Given the description of an element on the screen output the (x, y) to click on. 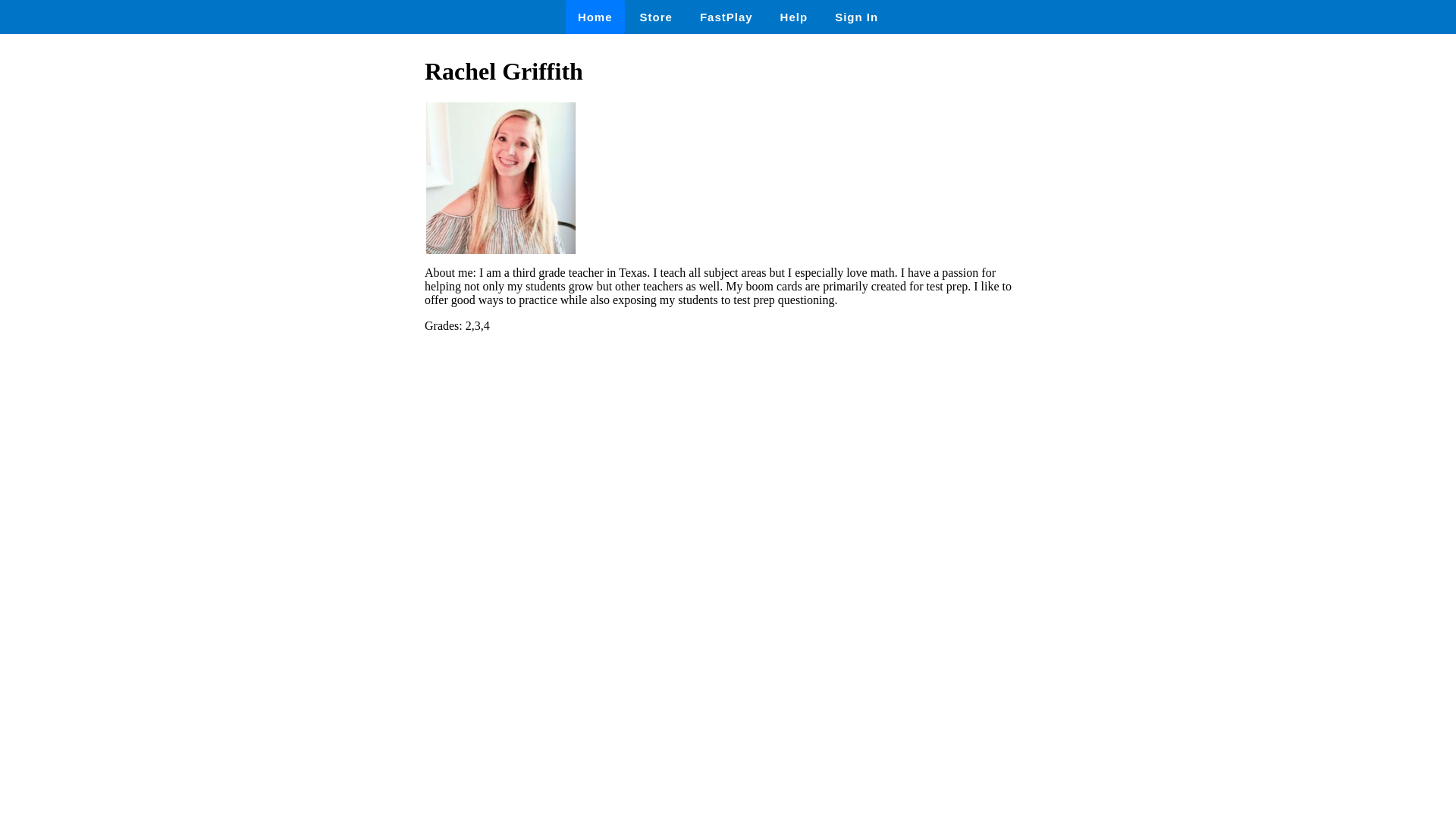
Sign In (855, 17)
Store (655, 17)
FastPlay (726, 17)
Help (794, 17)
Home (595, 17)
